Given the description of an element on the screen output the (x, y) to click on. 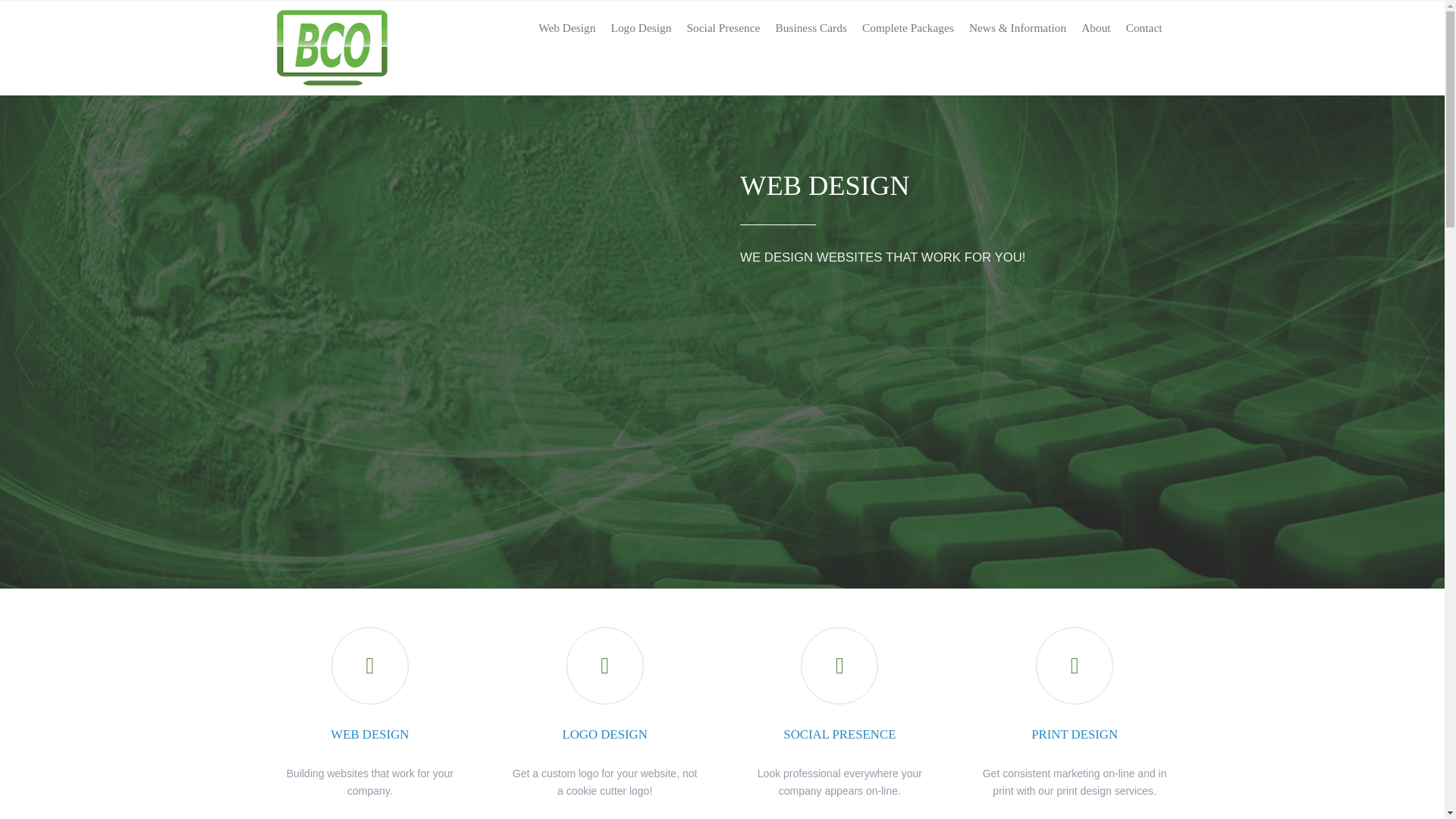
Logo Design (640, 28)
WEB DESIGN (369, 734)
Web Design (566, 28)
Complete Packages (907, 28)
SOCIAL PRESENCE (839, 734)
About (1096, 28)
LOGO DESIGN (604, 734)
Contact (1144, 28)
Social Presence (722, 28)
PRINT DESIGN (1074, 734)
